Given the description of an element on the screen output the (x, y) to click on. 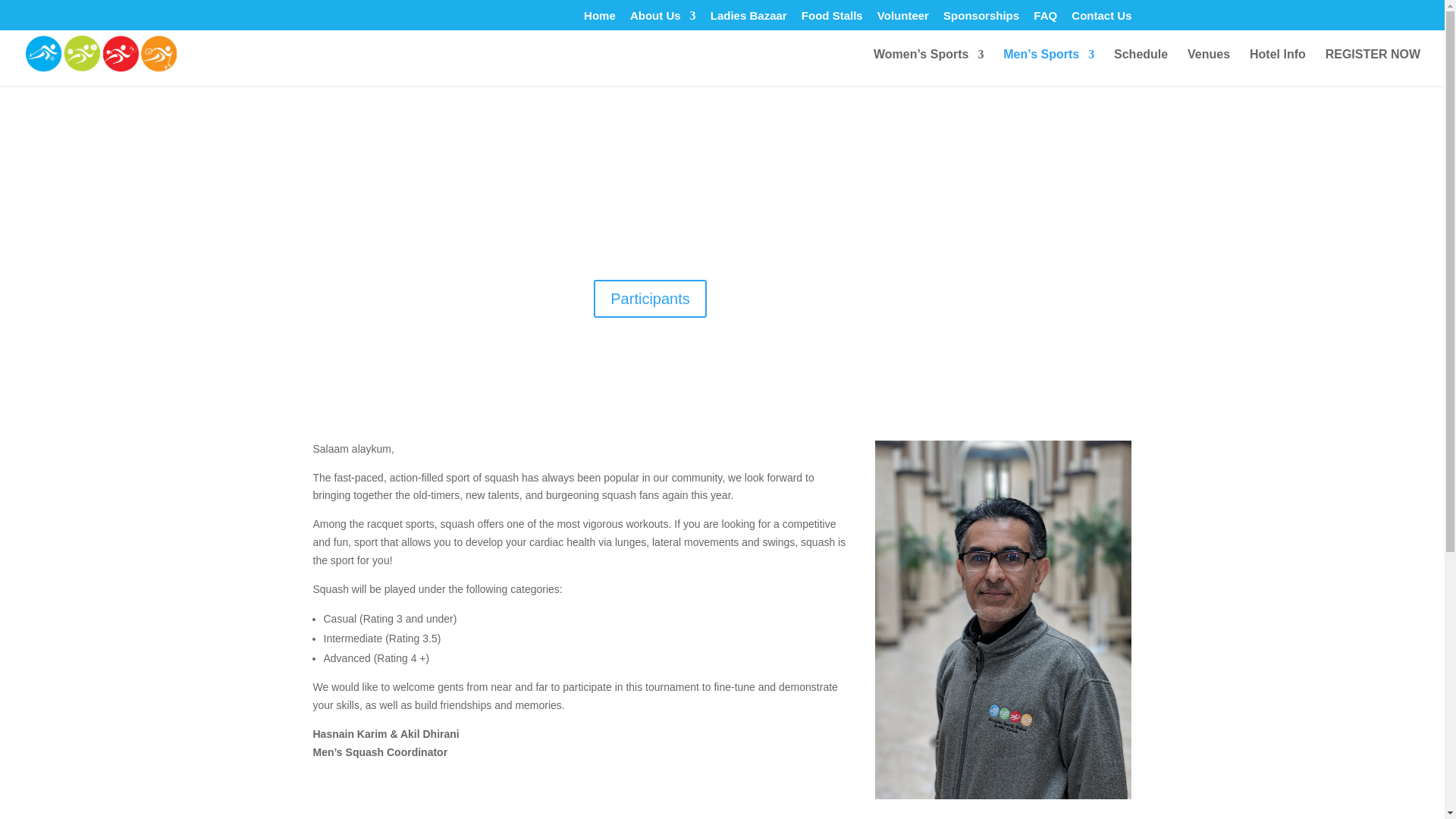
Schedule (1140, 67)
Home (599, 19)
Participants (650, 298)
Venues (1209, 67)
Sponsorships (981, 19)
Ladies Bazaar (748, 19)
Food Stalls (832, 19)
Contact Us (1101, 19)
FAQ (1045, 19)
About Us (662, 19)
Hotel Info (1277, 67)
REGISTER NOW (1372, 67)
Volunteer (902, 19)
